Given the description of an element on the screen output the (x, y) to click on. 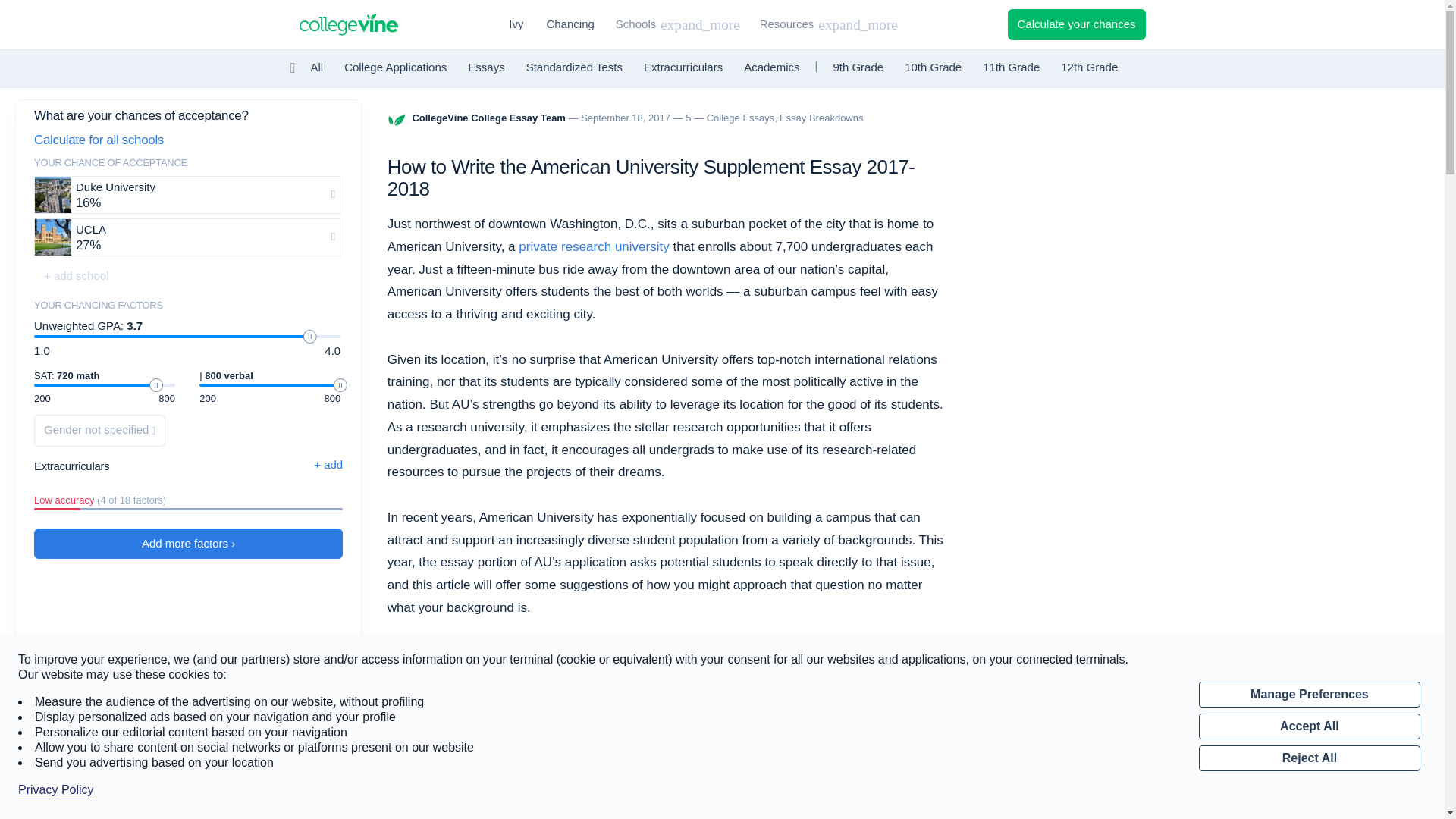
Accept All (1309, 726)
Calculate your chances (1076, 24)
Standardized Tests (573, 67)
Extracurriculars (683, 67)
CollegeVine College Essay Team (489, 117)
Privacy Policy (55, 789)
Academics (771, 67)
Manage Preferences (1309, 694)
11th Grade (1010, 67)
Reject All (1309, 758)
Calculate for all schools (186, 140)
9th Grade (858, 67)
10th Grade (933, 67)
Ivy (515, 24)
Essays (486, 67)
